Given the description of an element on the screen output the (x, y) to click on. 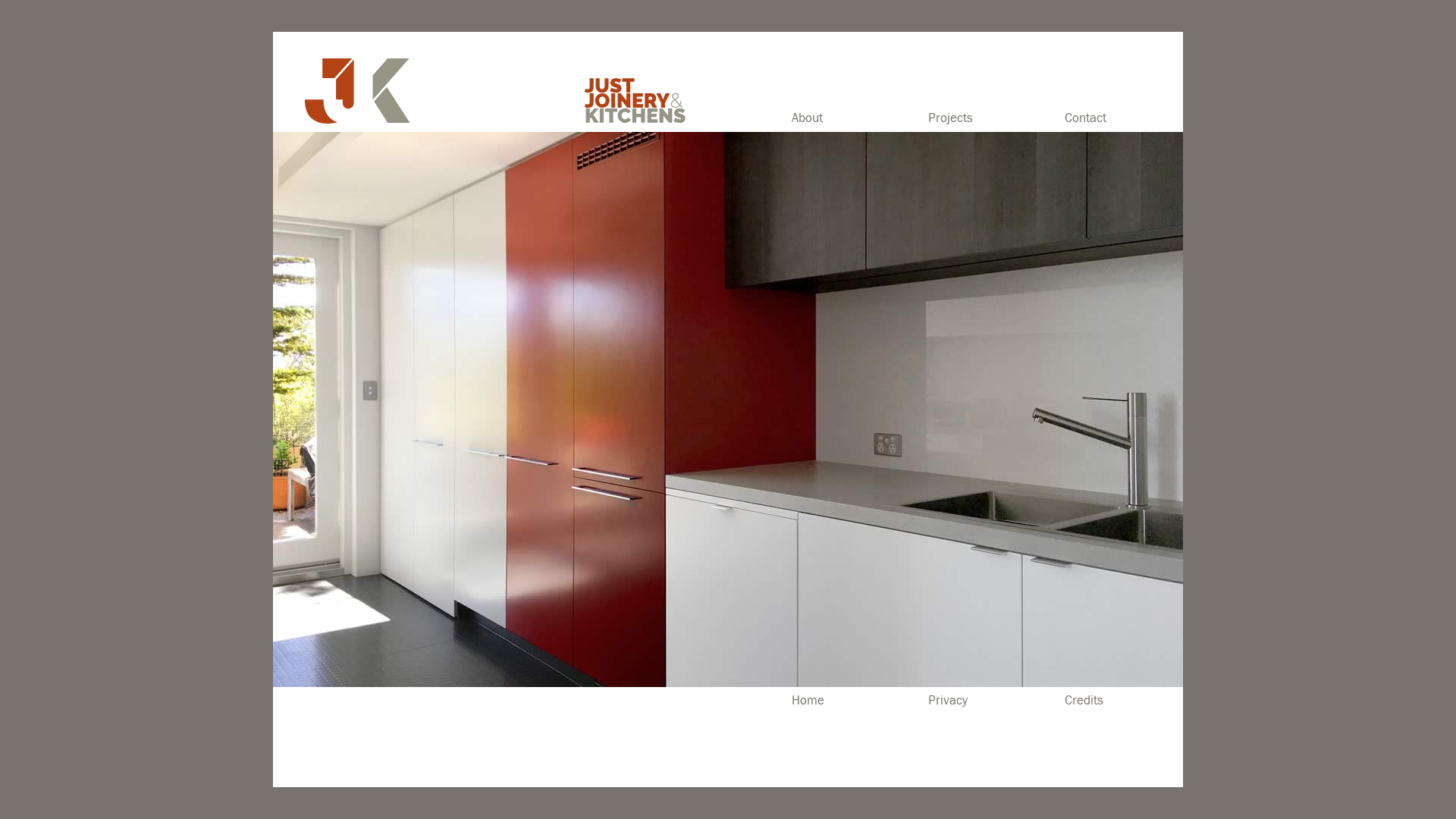
Projects Element type: text (996, 121)
Home Element type: text (807, 700)
Credits Element type: text (1083, 700)
About Element type: text (859, 121)
Privacy Element type: text (947, 700)
Contact Element type: text (1123, 121)
